Given the description of an element on the screen output the (x, y) to click on. 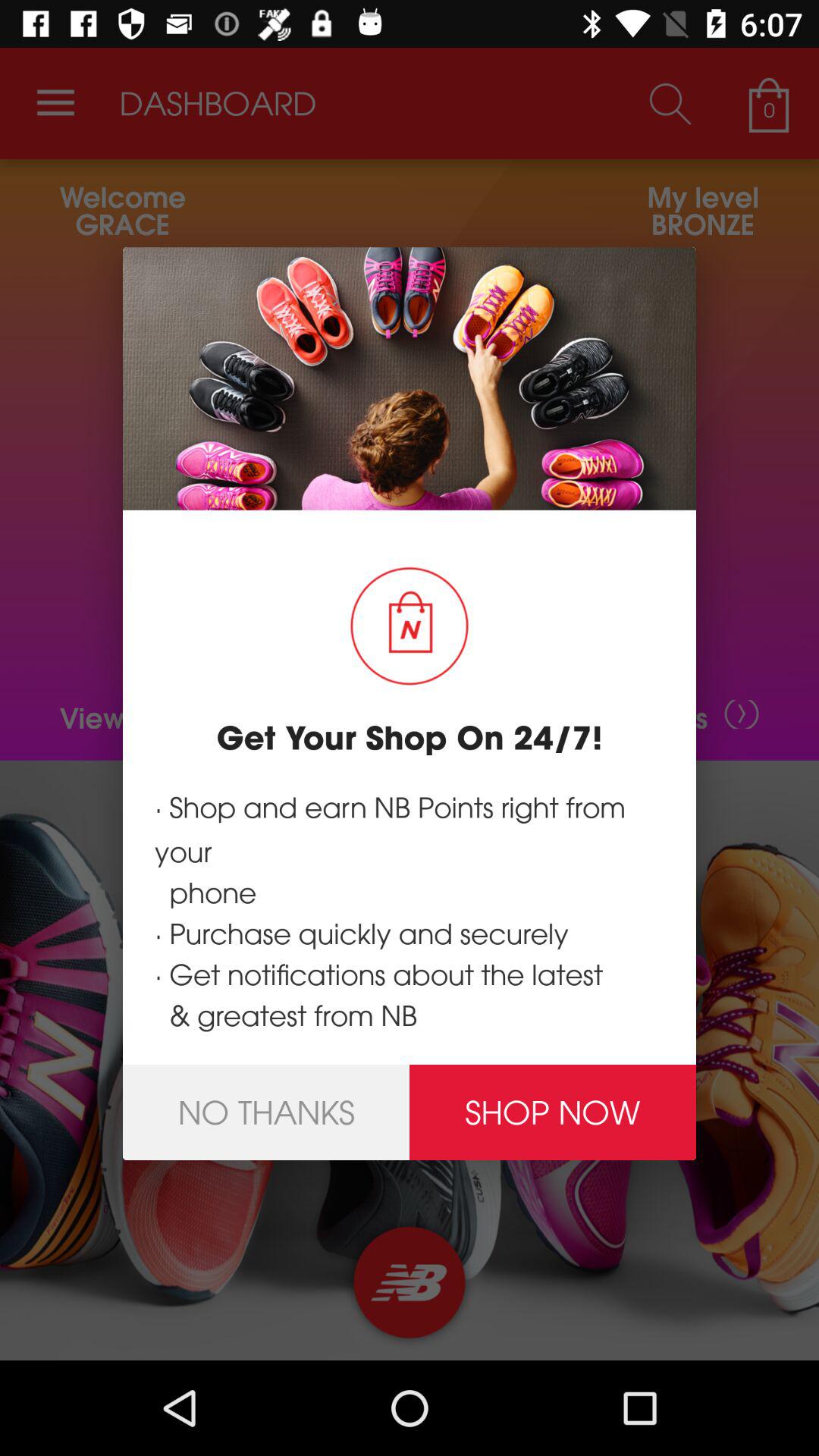
open the no thanks icon (265, 1112)
